Given the description of an element on the screen output the (x, y) to click on. 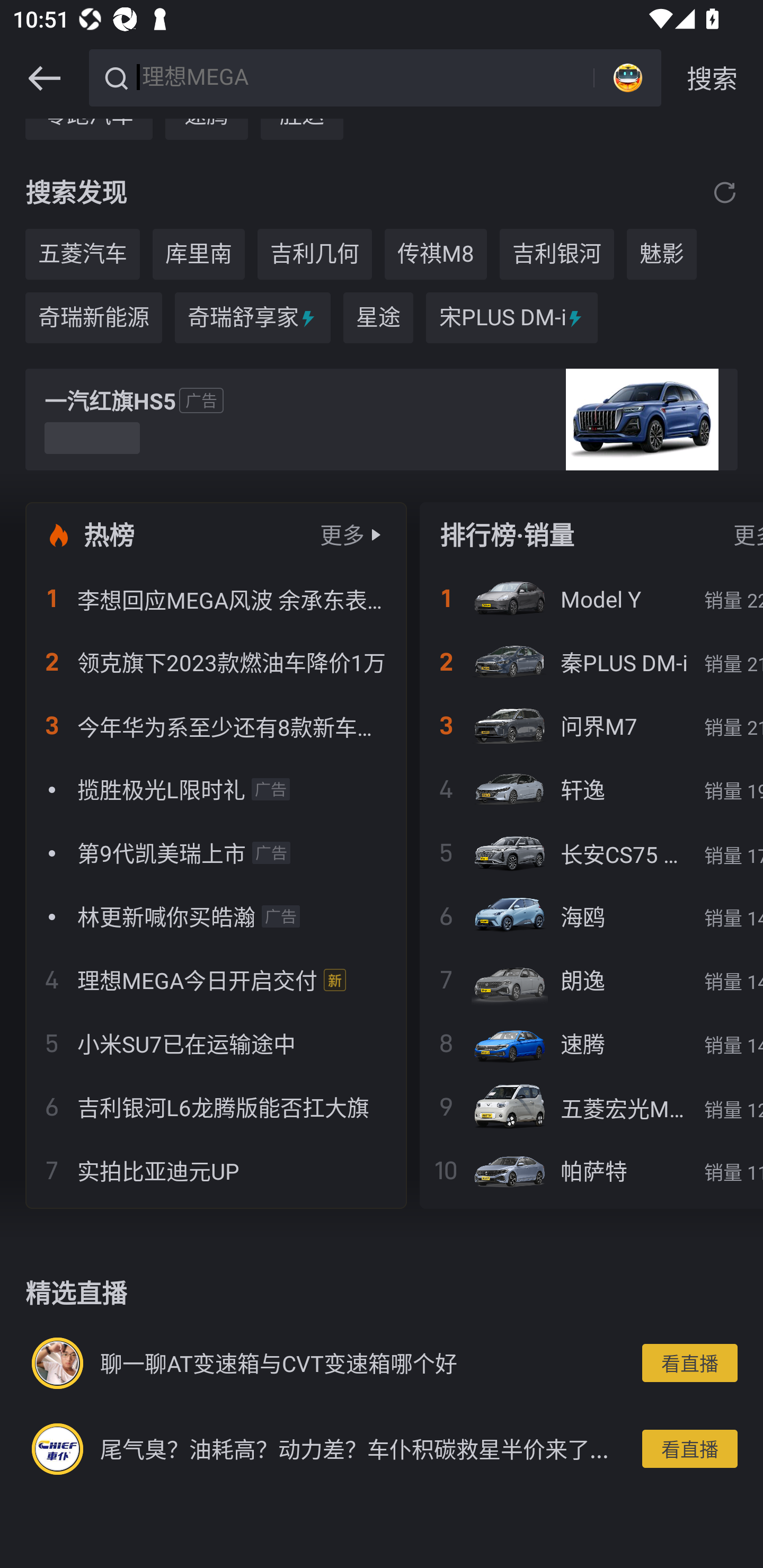
 理想MEGA (364, 76)
 (44, 78)
搜索 (711, 78)
 (724, 192)
五菱汽车 (82, 253)
库里南 (198, 253)
吉利几何 (314, 253)
传祺M8 (435, 253)
吉利银河 (556, 253)
魅影 (661, 253)
奇瑞新能源 (93, 317)
奇瑞舒享家 (252, 317)
星途 (378, 317)
宋PLUS DM-i (511, 317)
一汽红旗HS5 广告 预约试驾 (381, 419)
更多 (341, 534)
李想回应MEGA风波 余承东表态 (215, 598)
Model Y 销量 22537 (591, 598)
领克旗下2023款燃油车降价1万 (215, 662)
秦PLUS DM-i 销量 21268 (591, 662)
今年华为系至少还有8款新车要来 (215, 725)
问界M7 销量 21083 (591, 725)
揽胜极光L限时礼 (215, 789)
轩逸 销量 19878 (591, 789)
第9代凯美瑞上市 (215, 852)
长安CS75 PLUS 销量 17303 (591, 852)
林更新喊你买皓瀚 (215, 916)
海鸥 销量 14403 (591, 916)
理想MEGA今日开启交付 (215, 979)
朗逸 销量 14400 (591, 979)
小米SU7已在运输途中 (215, 1043)
速腾 销量 14209 (591, 1043)
吉利银河L6龙腾版能否扛大旗 (215, 1106)
五菱宏光MINIEV 销量 12649 (591, 1106)
实拍比亚迪元UP (215, 1170)
帕萨特 销量 11641 (591, 1170)
聊一聊AT变速箱与CVT变速箱哪个好 看直播 (381, 1363)
尾气臭？油耗高？动力差？车仆积碳救星半价来了... 看直播 (381, 1448)
